Given the description of an element on the screen output the (x, y) to click on. 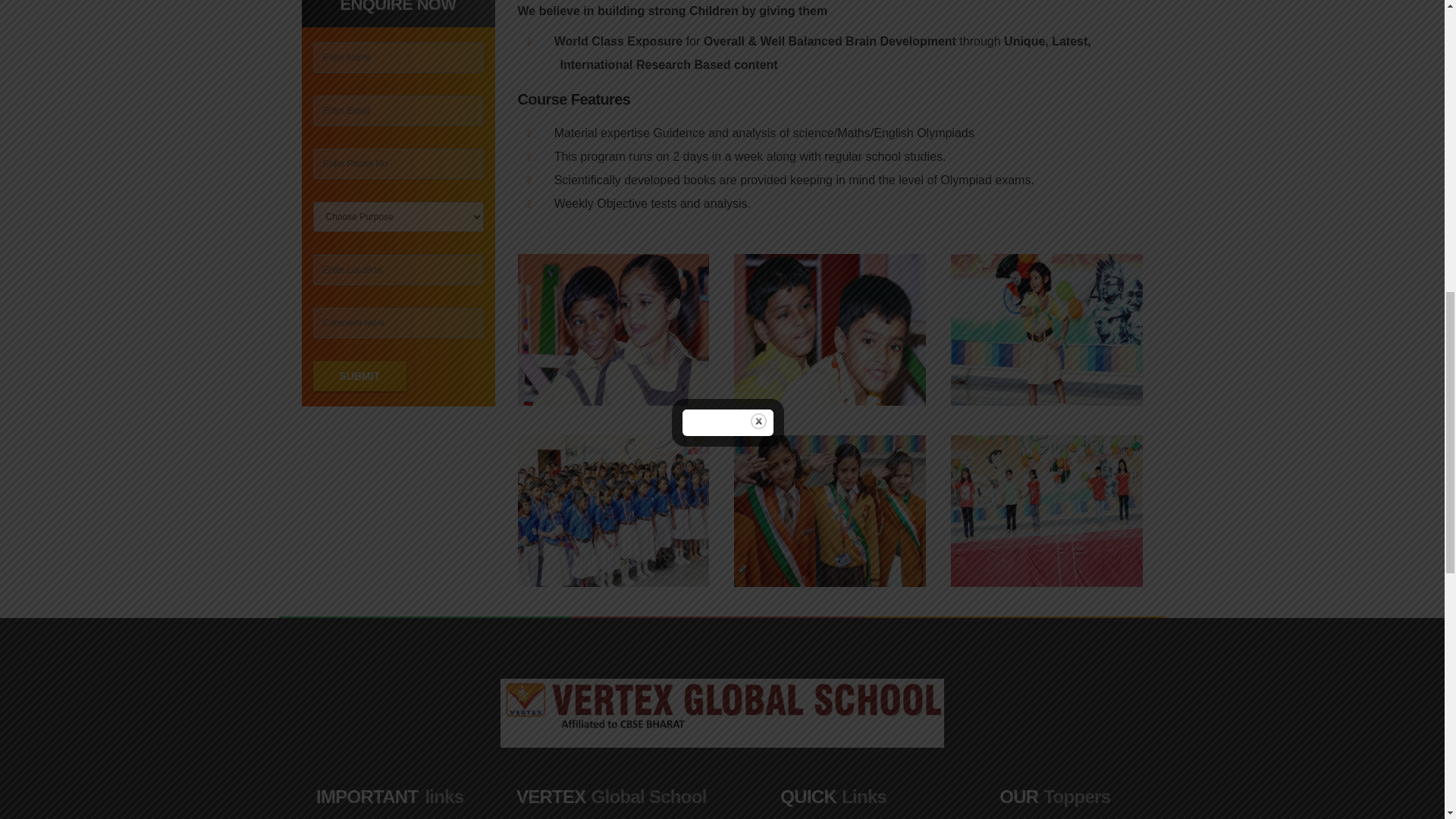
SUBMIT (359, 376)
